Given the description of an element on the screen output the (x, y) to click on. 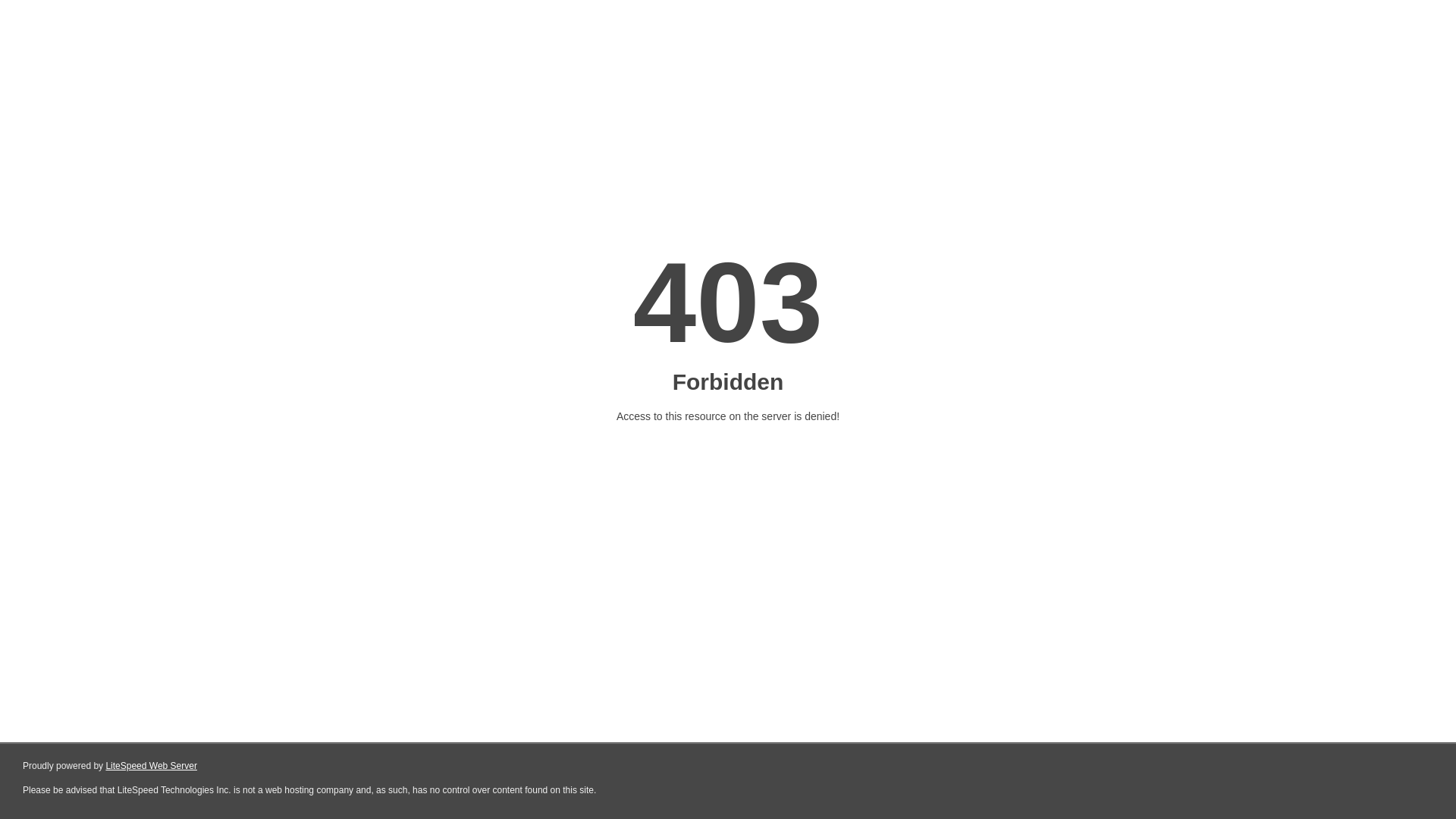
LiteSpeed Web Server Element type: text (151, 765)
